Given the description of an element on the screen output the (x, y) to click on. 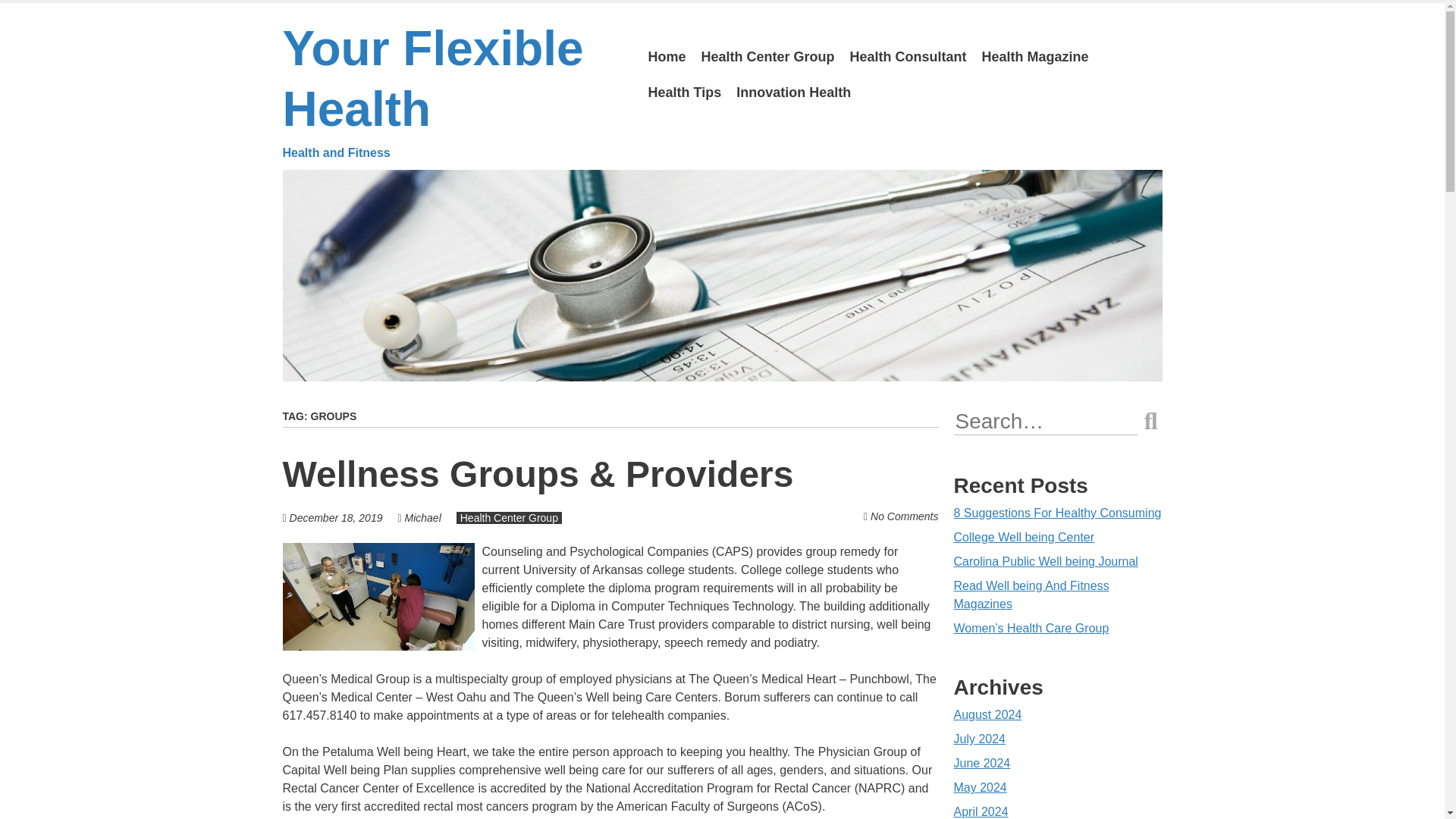
View all posts by Michael (422, 517)
July 2024 (979, 738)
Health Center Group (768, 57)
Health Consultant (908, 57)
Read Well being And Fitness Magazines (1031, 594)
No Comments (903, 516)
Health Tips (684, 92)
Health Magazine (1035, 57)
April 2024 (981, 811)
Your Flexible Health (453, 90)
